Given the description of an element on the screen output the (x, y) to click on. 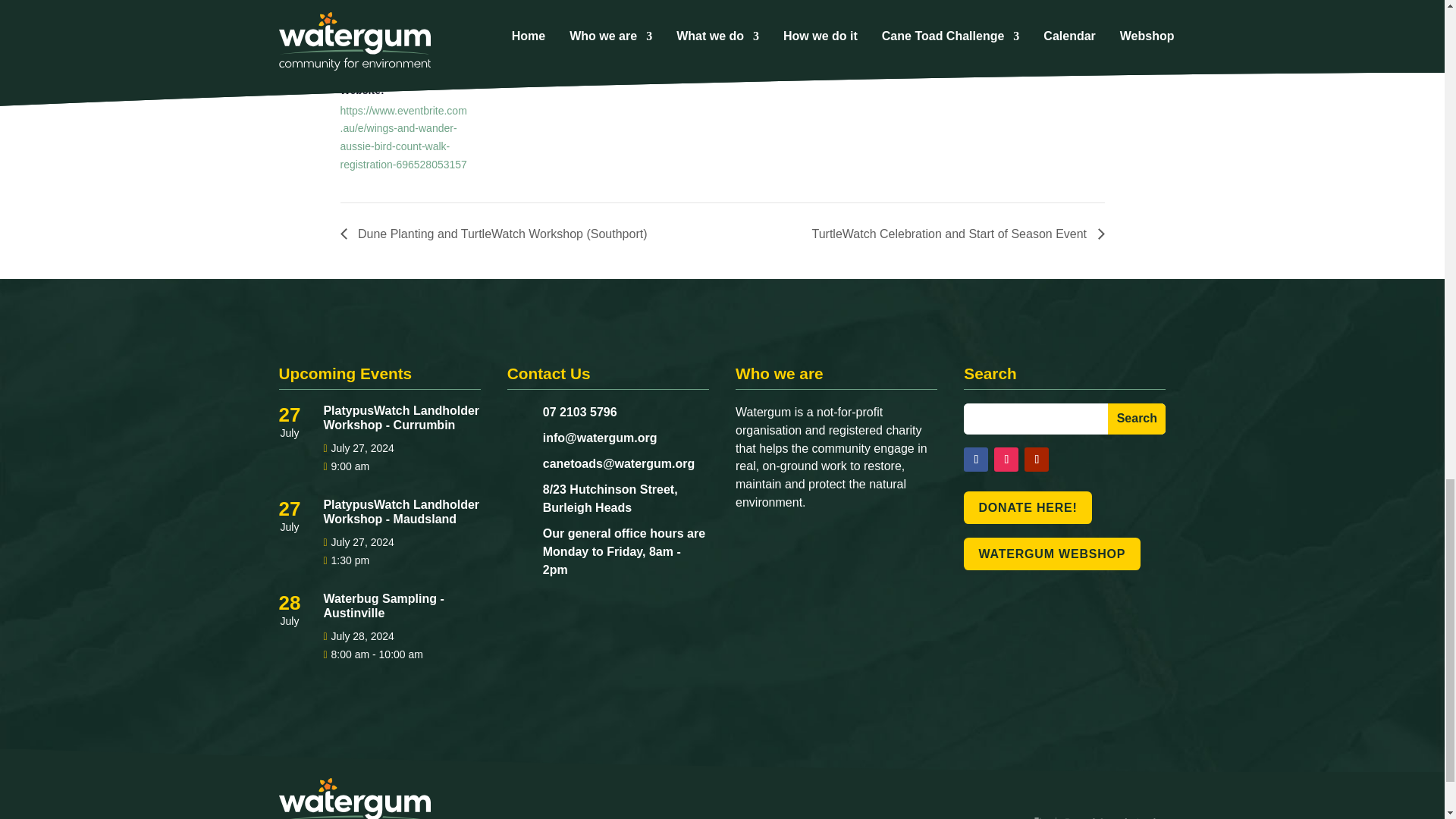
Follow on Instagram (1005, 459)
Click to view a Google Map (683, 60)
2023-10-21 (380, 9)
Follow on Facebook (975, 459)
Search (1137, 418)
2023-10-21 (403, 60)
Follow on Youtube (1036, 459)
Search (1137, 418)
Google maps iframe displaying the address to Greenwood Lakes (856, 58)
